Given the description of an element on the screen output the (x, y) to click on. 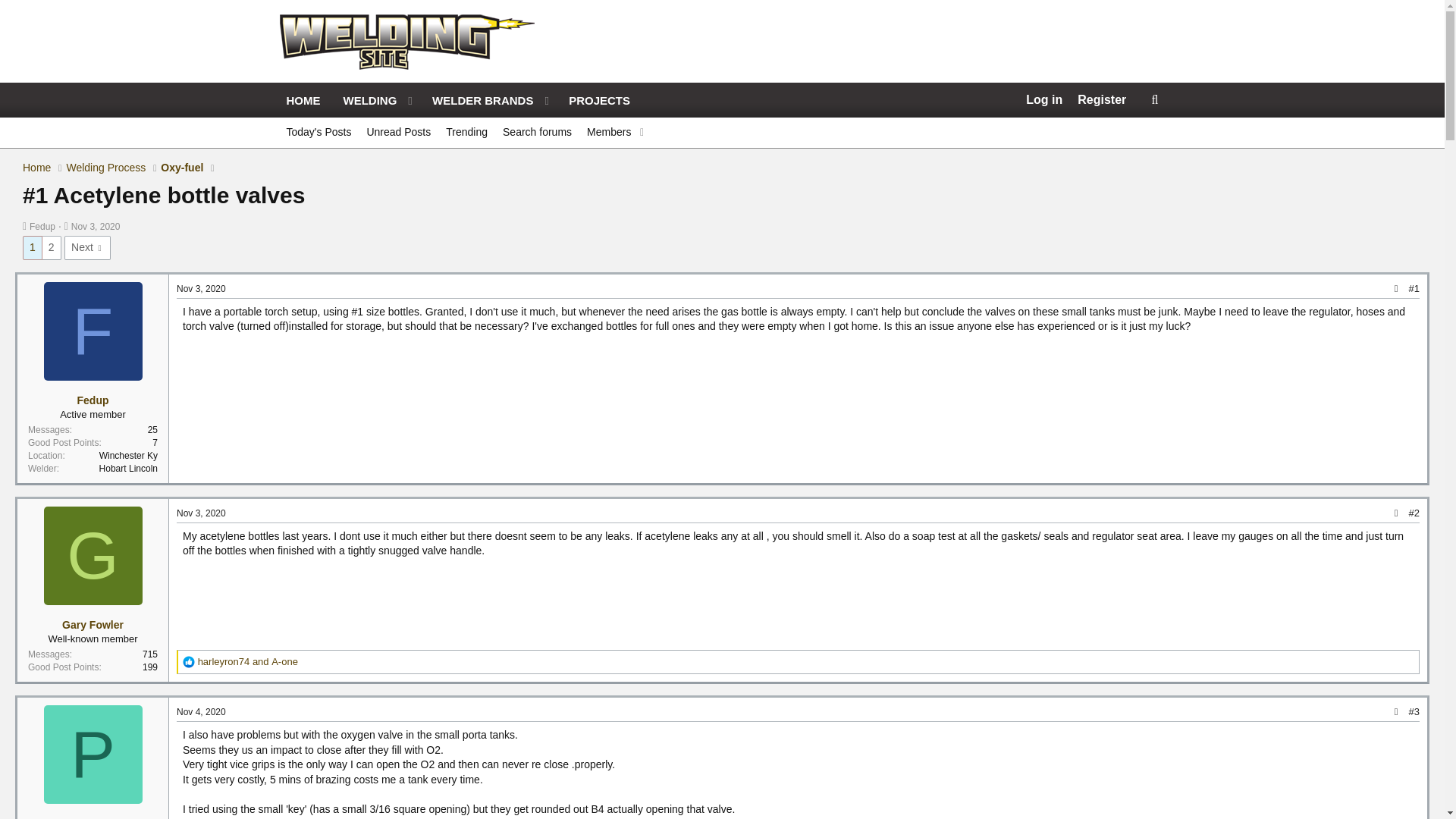
Search forums (537, 132)
Nov 4, 2020 at 7:47 AM (200, 711)
WELDING (365, 100)
HOME (303, 100)
Nov 3, 2020 at 10:23 AM (95, 226)
Unread Posts (398, 132)
PROJECTS (599, 100)
Register (1102, 99)
Today's Posts (319, 132)
